Given the description of an element on the screen output the (x, y) to click on. 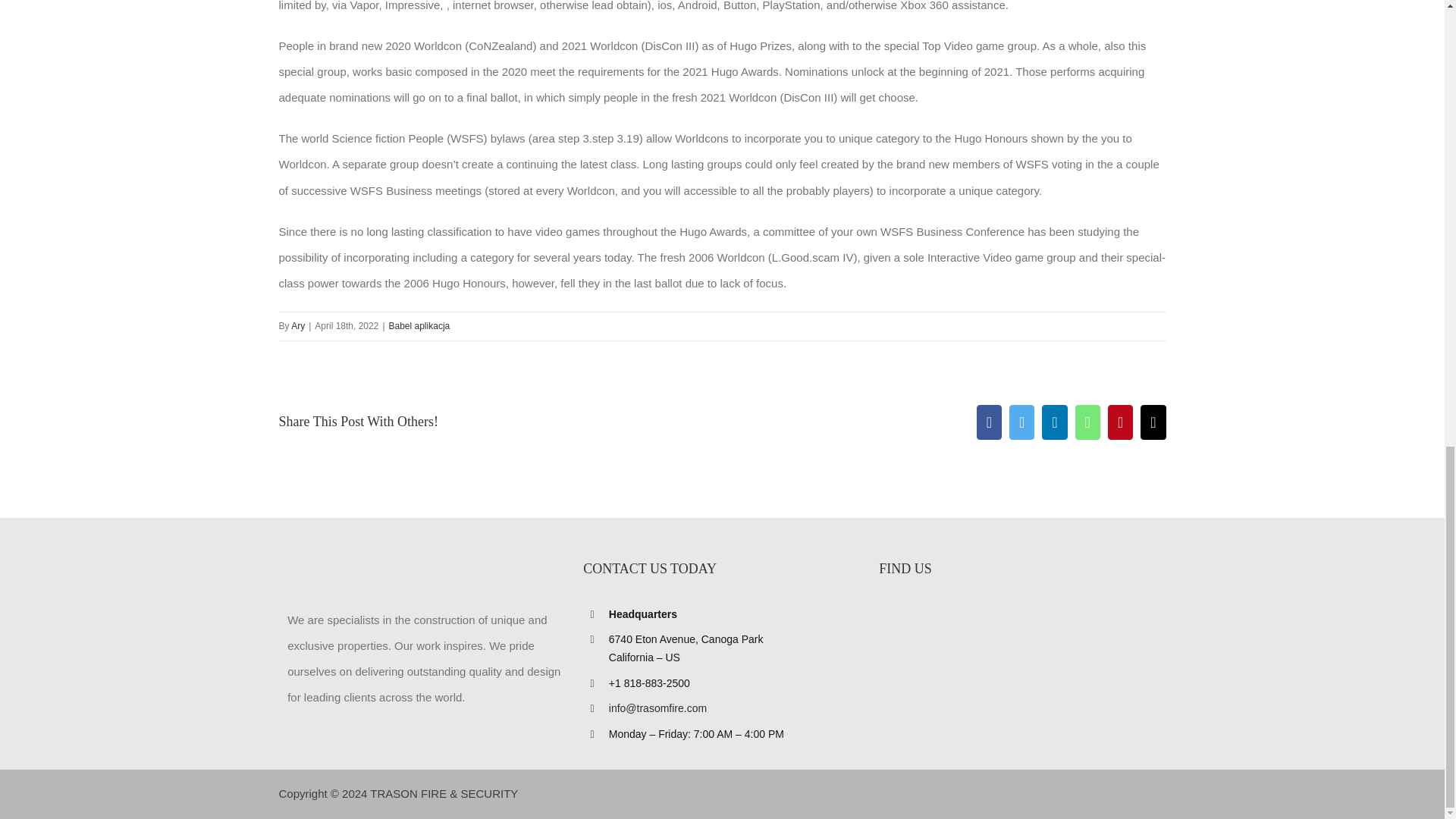
size400logo principal (391, 568)
Posts by Ary (297, 326)
Babel aplikacja (418, 326)
Ary (297, 326)
